Given the description of an element on the screen output the (x, y) to click on. 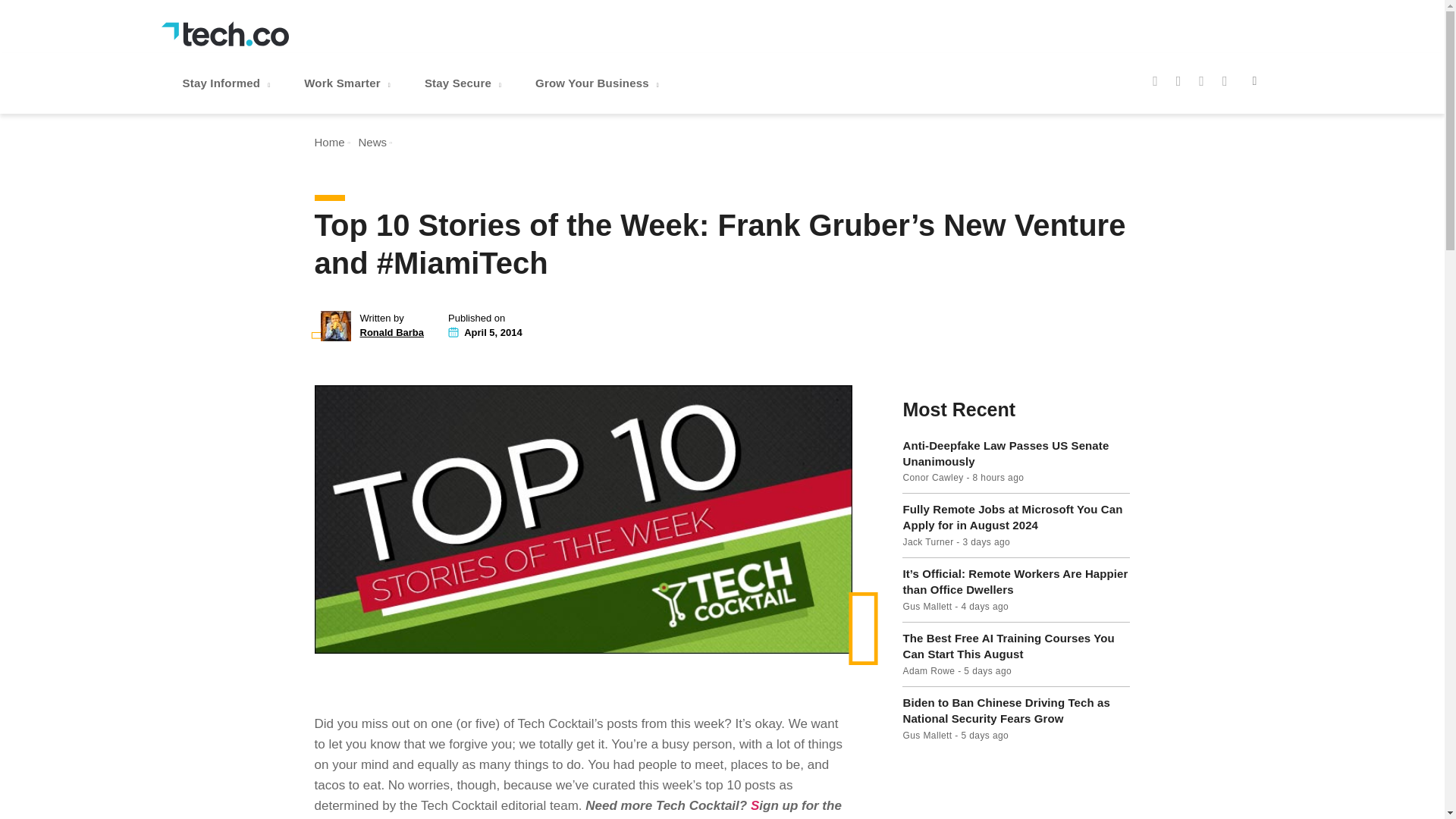
Stay Secure (464, 83)
Work Smarter (348, 83)
Stay Informed (227, 83)
Grow Your Business (598, 83)
